Given the description of an element on the screen output the (x, y) to click on. 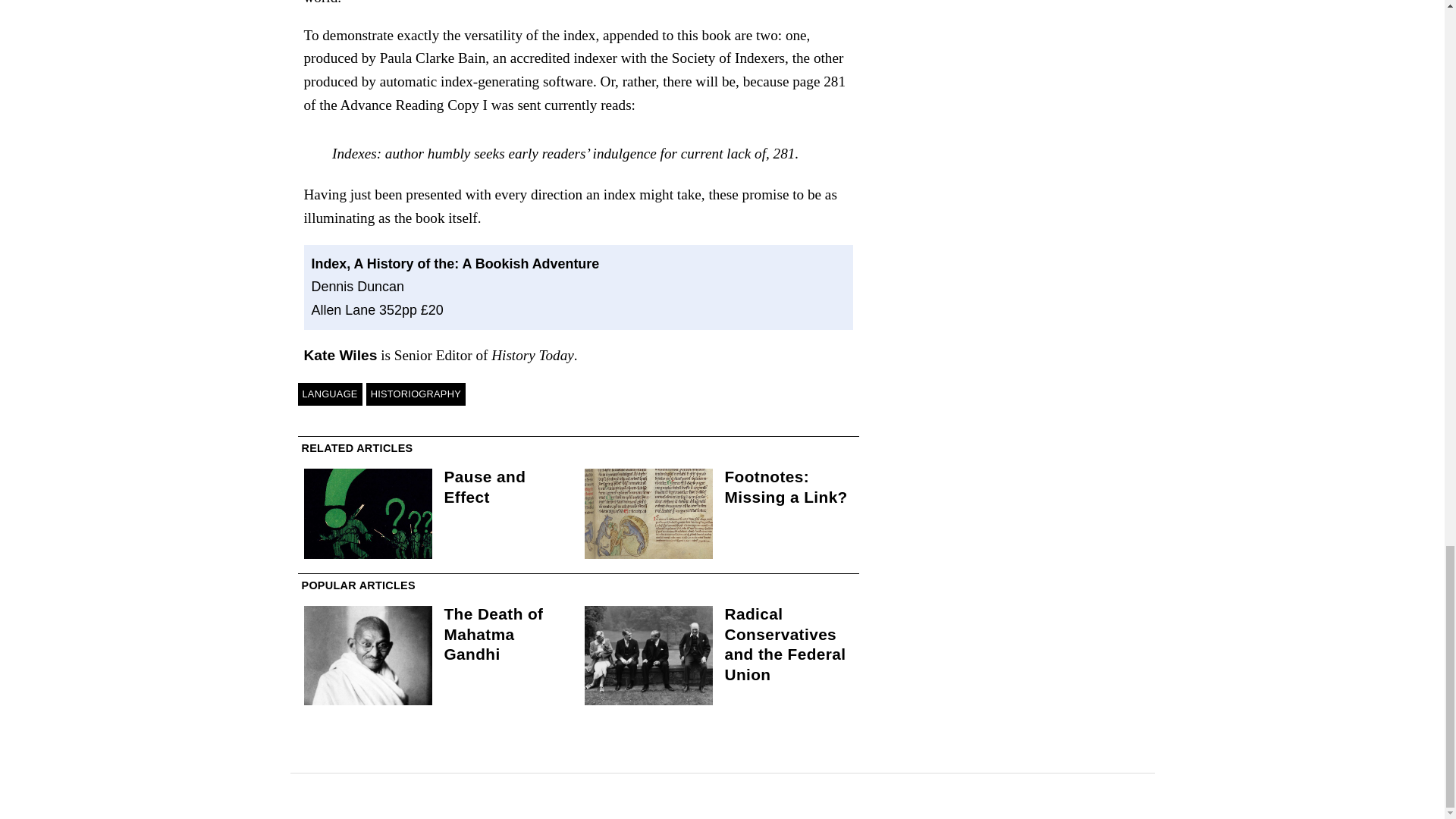
Pause and Effect (484, 486)
HISTORIOGRAPHY (415, 394)
LANGUAGE (329, 394)
Footnotes: Missing a Link? (786, 486)
